Given the description of an element on the screen output the (x, y) to click on. 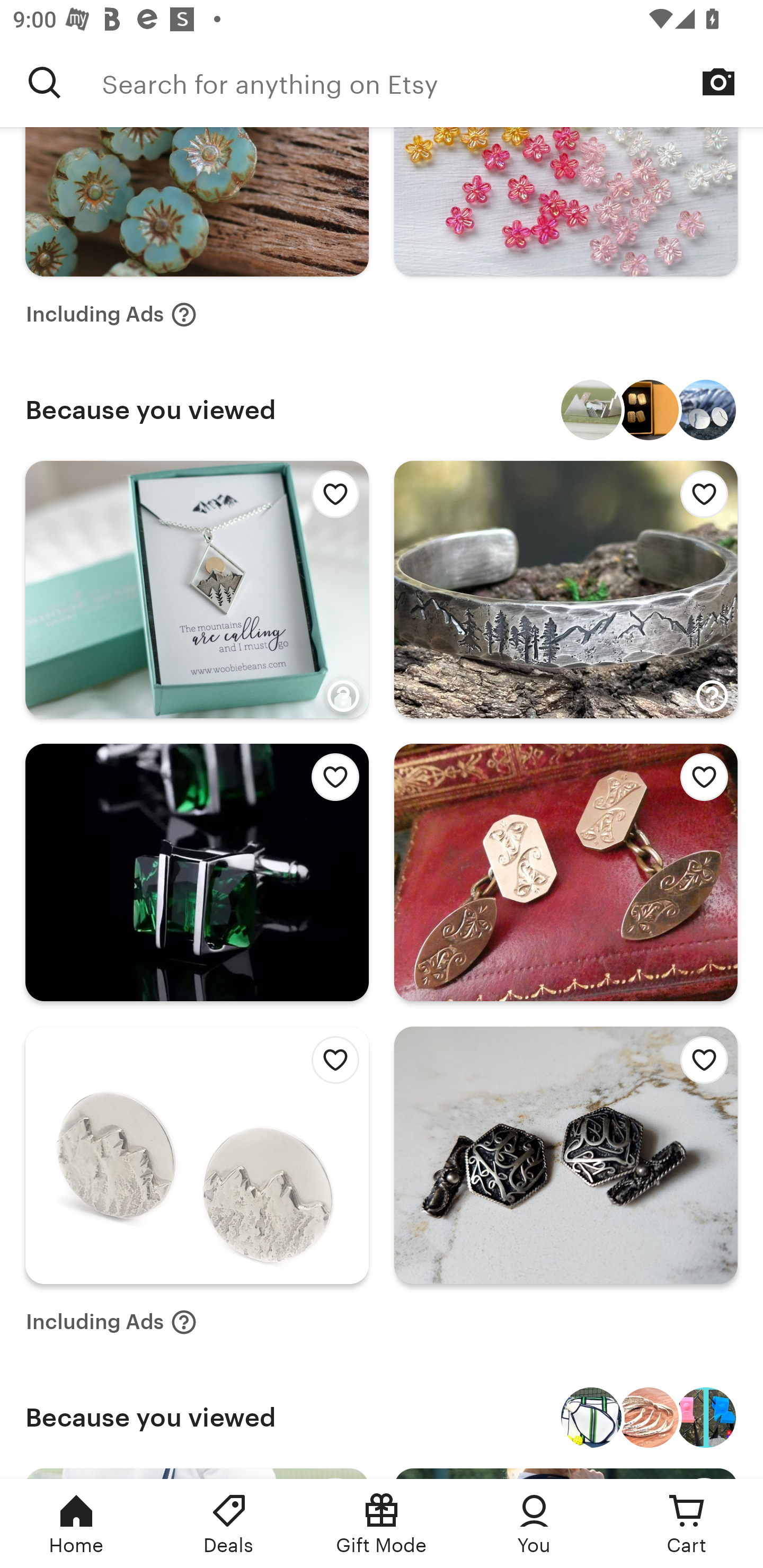
Search for anything on Etsy (44, 82)
Search by image (718, 81)
Search for anything on Etsy (432, 82)
Including Ads (111, 313)
Including Ads (111, 1322)
Deals (228, 1523)
Gift Mode (381, 1523)
You (533, 1523)
Cart (686, 1523)
